Given the description of an element on the screen output the (x, y) to click on. 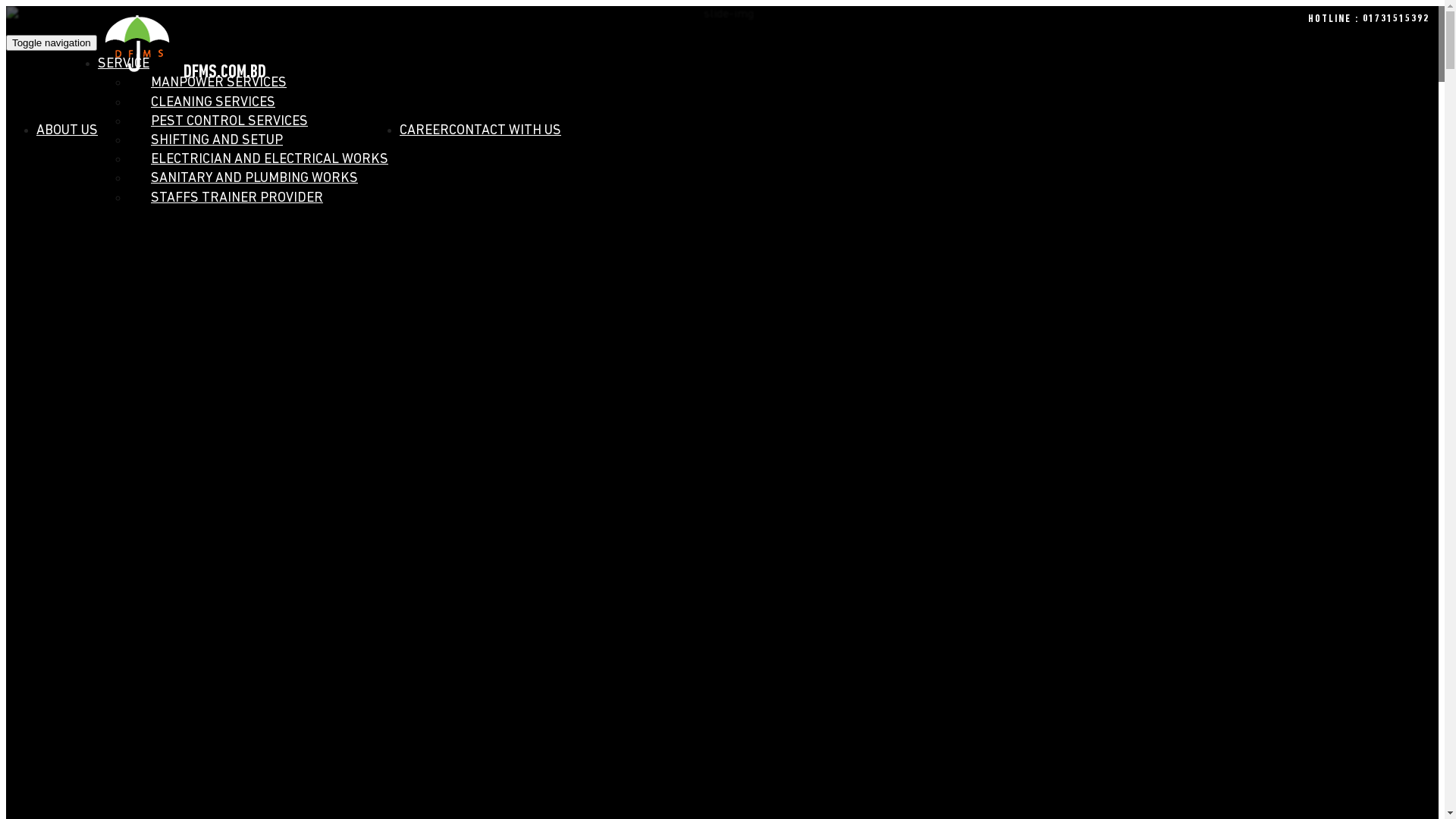
CAREER Element type: text (423, 144)
MANPOWER SERVICES Element type: text (213, 82)
CLEANING SERVICES Element type: text (207, 102)
SANITARY AND PLUMBING WORKS Element type: text (248, 178)
CONTACT WITH US Element type: text (504, 144)
ABOUT US Element type: text (66, 144)
SHIFTING AND SETUP Element type: text (211, 140)
PEST CONTROL SERVICES Element type: text (223, 121)
DFMS.COM.BD Element type: text (136, 42)
SERVICE Element type: text (123, 77)
STAFFS TRAINER PROVIDER Element type: text (231, 198)
Toggle navigation Element type: text (51, 42)
ELECTRICIAN AND ELECTRICAL WORKS Element type: text (263, 159)
